Given the description of an element on the screen output the (x, y) to click on. 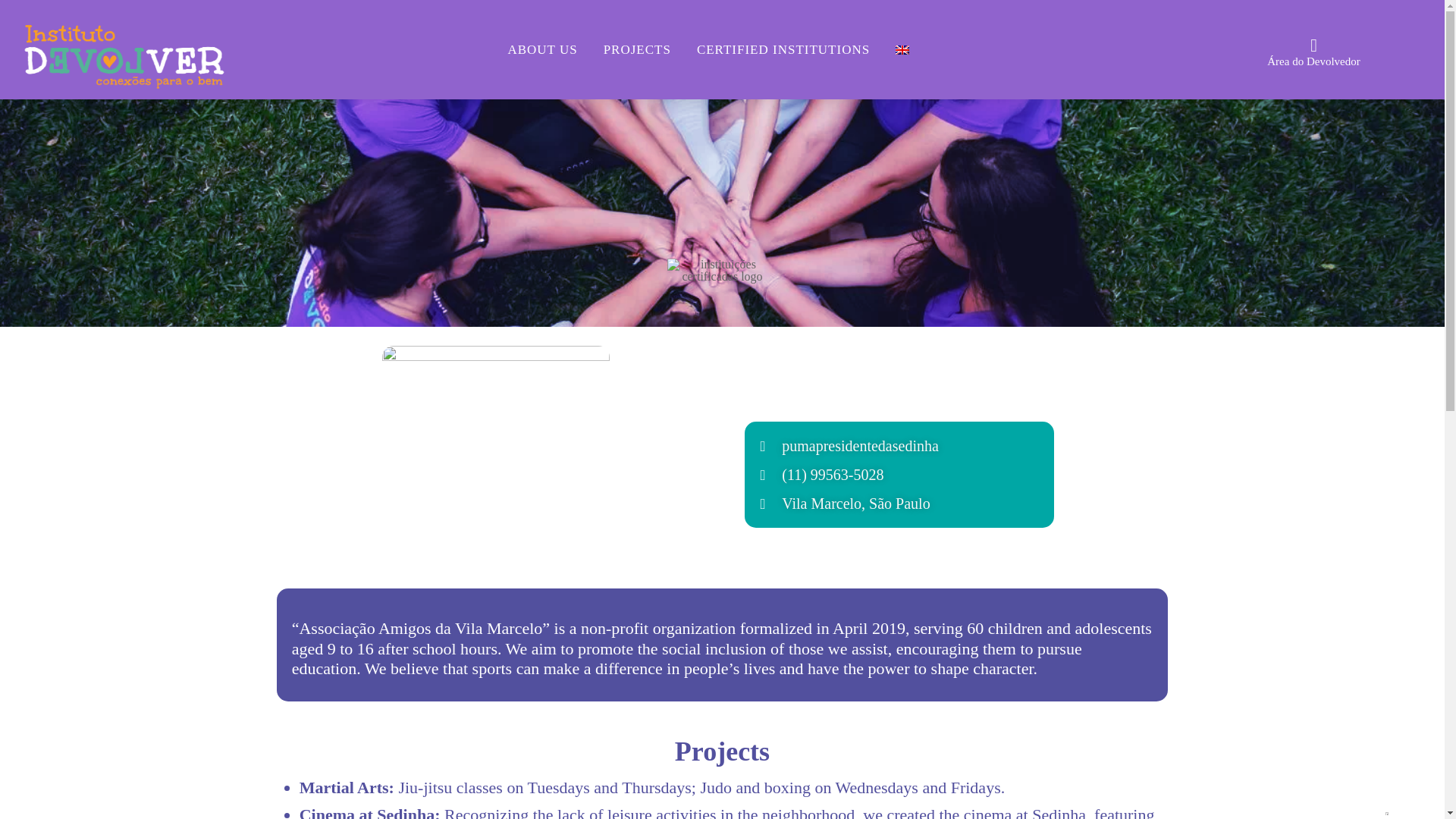
ABOUT US (542, 49)
CERTIFIED INSTITUTIONS (782, 49)
PROJECTS (636, 49)
